Given the description of an element on the screen output the (x, y) to click on. 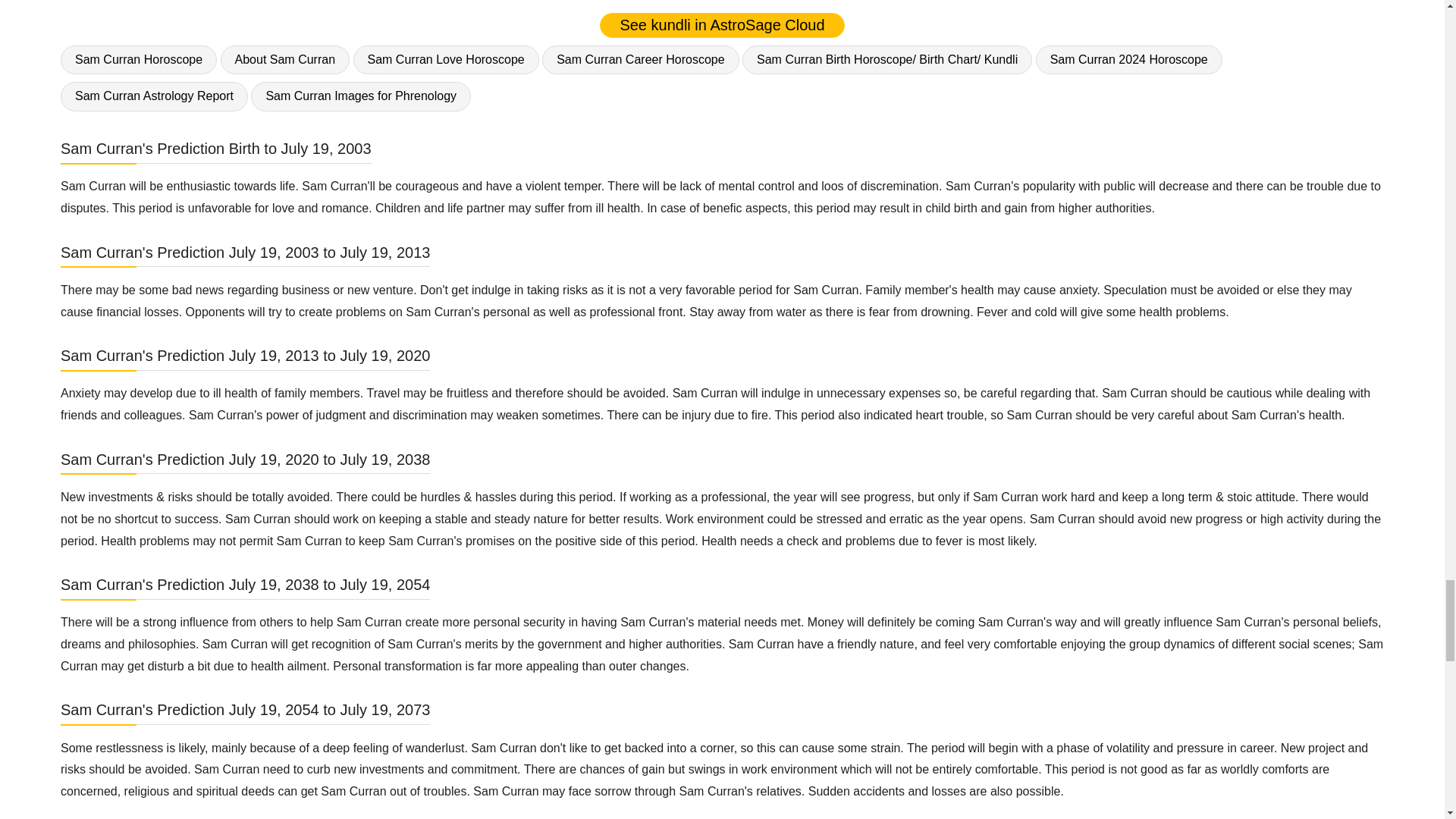
See kundli in AstroSage Cloud (721, 25)
